Given the description of an element on the screen output the (x, y) to click on. 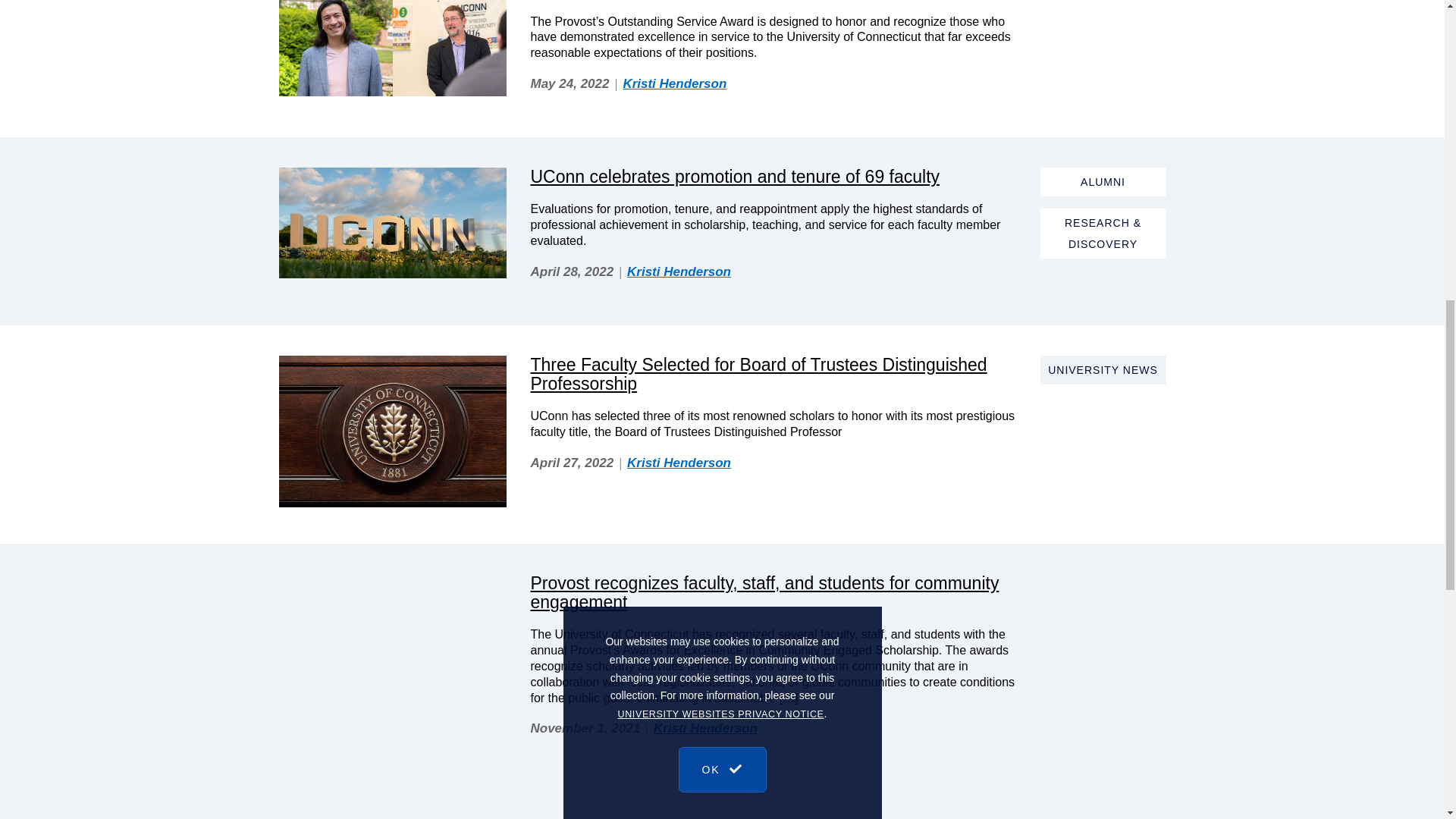
OK (721, 130)
UNIVERSITY WEBSITES PRIVACY NOTICE (720, 90)
